Given the description of an element on the screen output the (x, y) to click on. 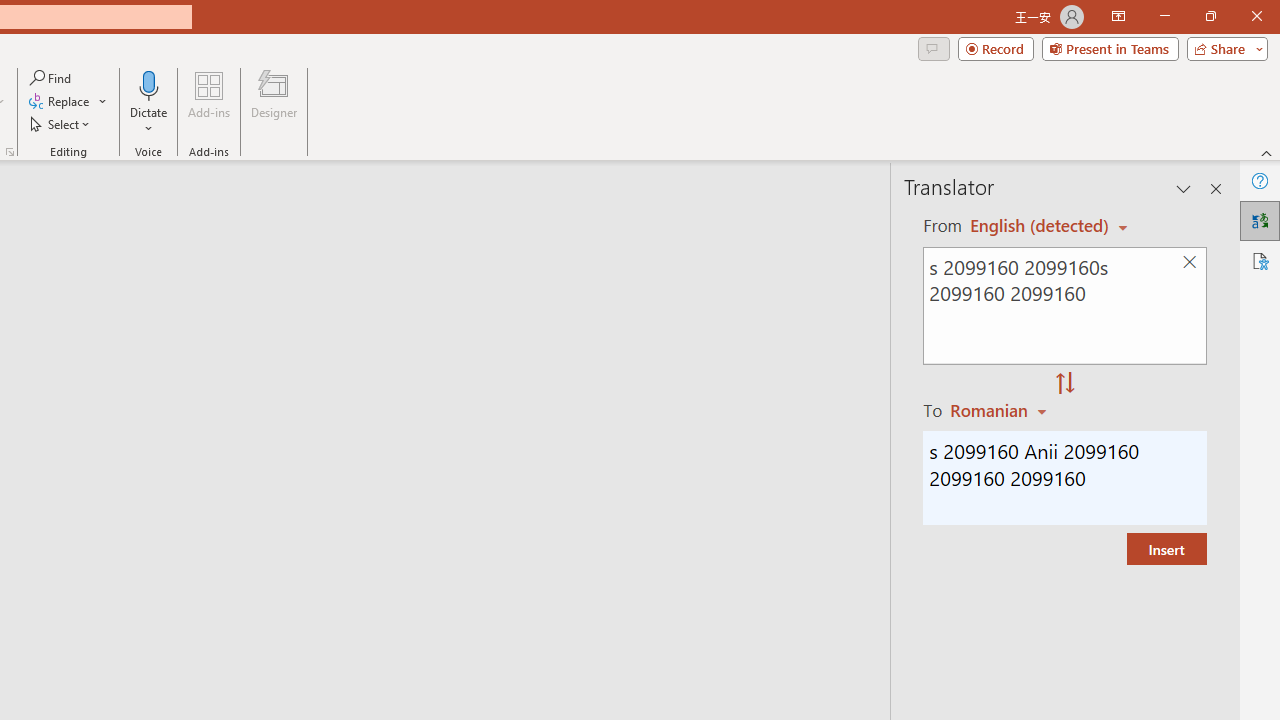
Clear text (1189, 262)
